Given the description of an element on the screen output the (x, y) to click on. 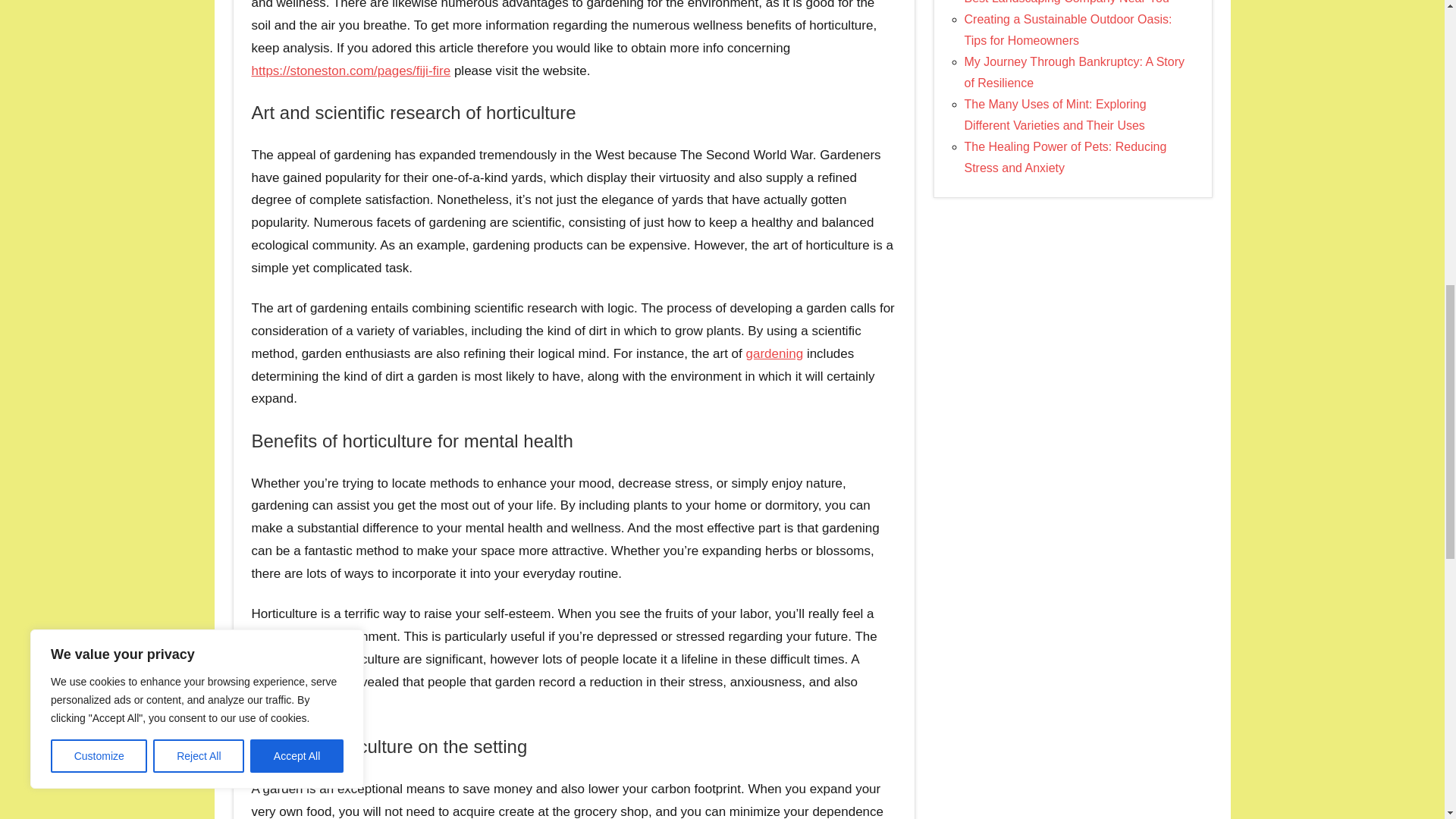
gardening (774, 353)
